Given the description of an element on the screen output the (x, y) to click on. 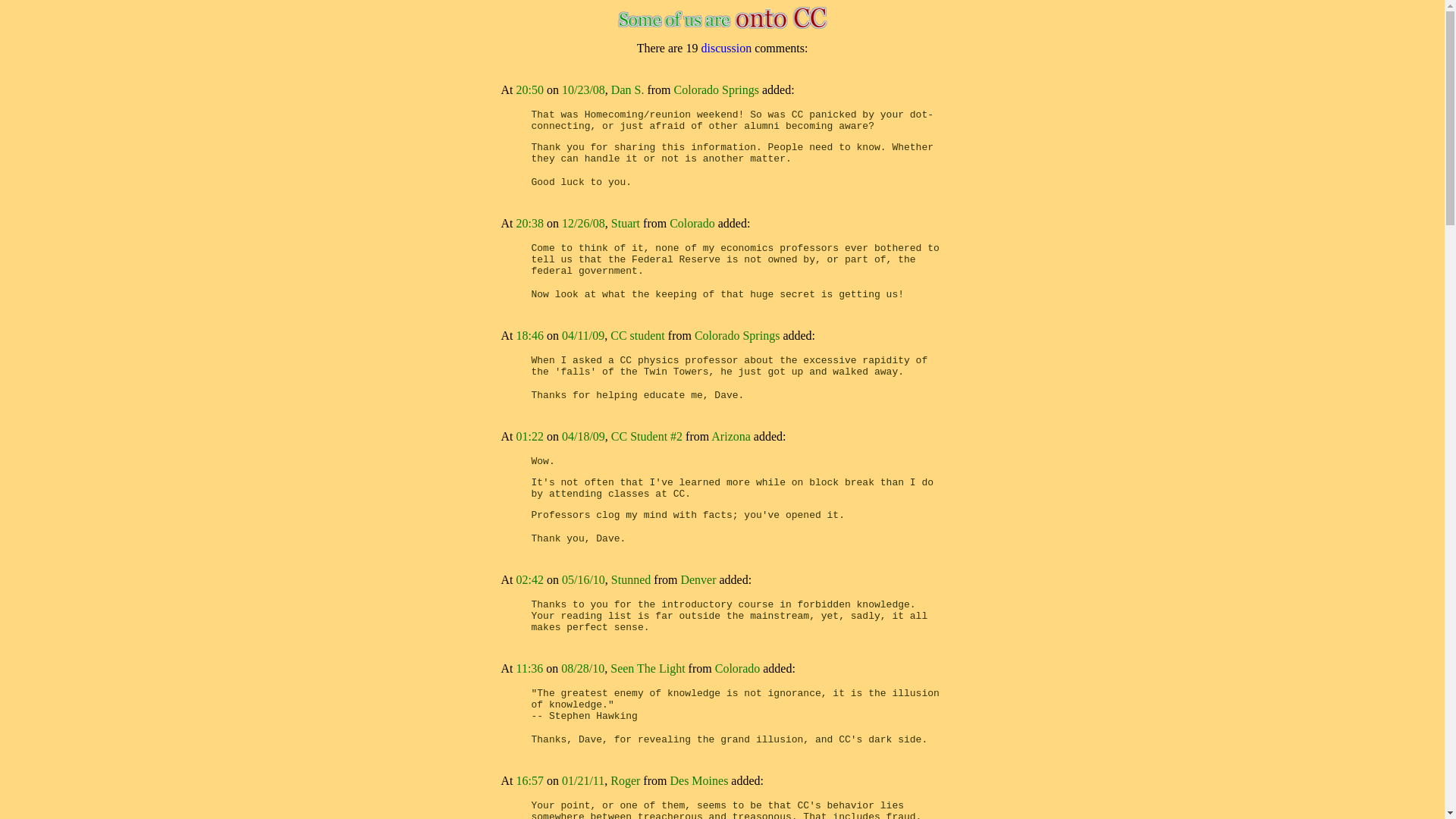
Click for ONTO.CC home page Element type: hover (721, 24)
discussion Element type: text (725, 47)
